Given the description of an element on the screen output the (x, y) to click on. 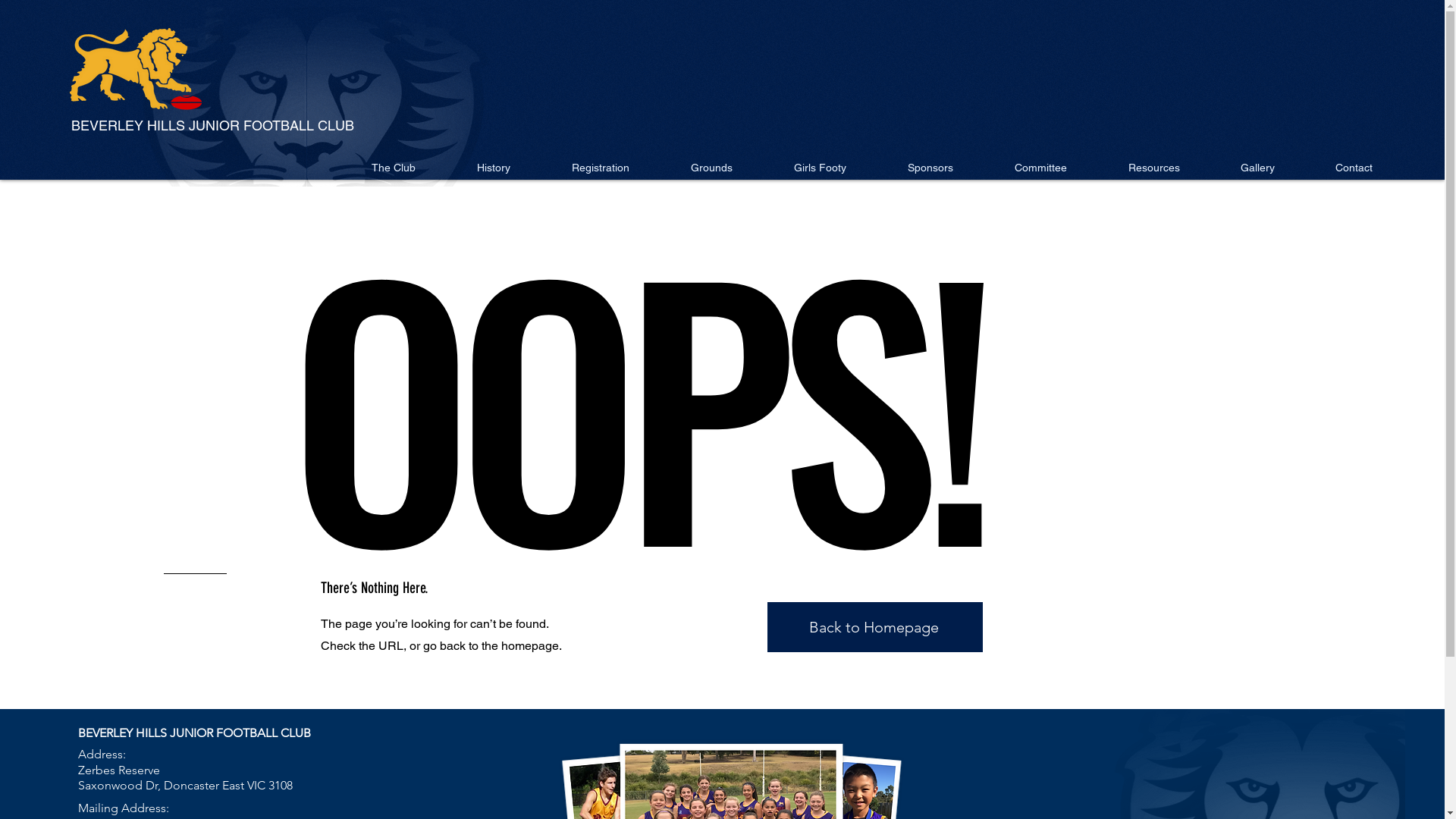
Contact Element type: text (1353, 167)
Back to Homepage Element type: text (874, 627)
lion logo.fw.png Element type: hover (135, 77)
Resources Element type: text (1154, 167)
Grounds Element type: text (710, 167)
The Club Element type: text (393, 167)
Committee Element type: text (1041, 167)
Gallery Element type: text (1257, 167)
History Element type: text (492, 167)
Girls Footy Element type: text (819, 167)
Sponsors Element type: text (929, 167)
lion-full.fw.png Element type: hover (310, 96)
Registration Element type: text (600, 167)
